Given the description of an element on the screen output the (x, y) to click on. 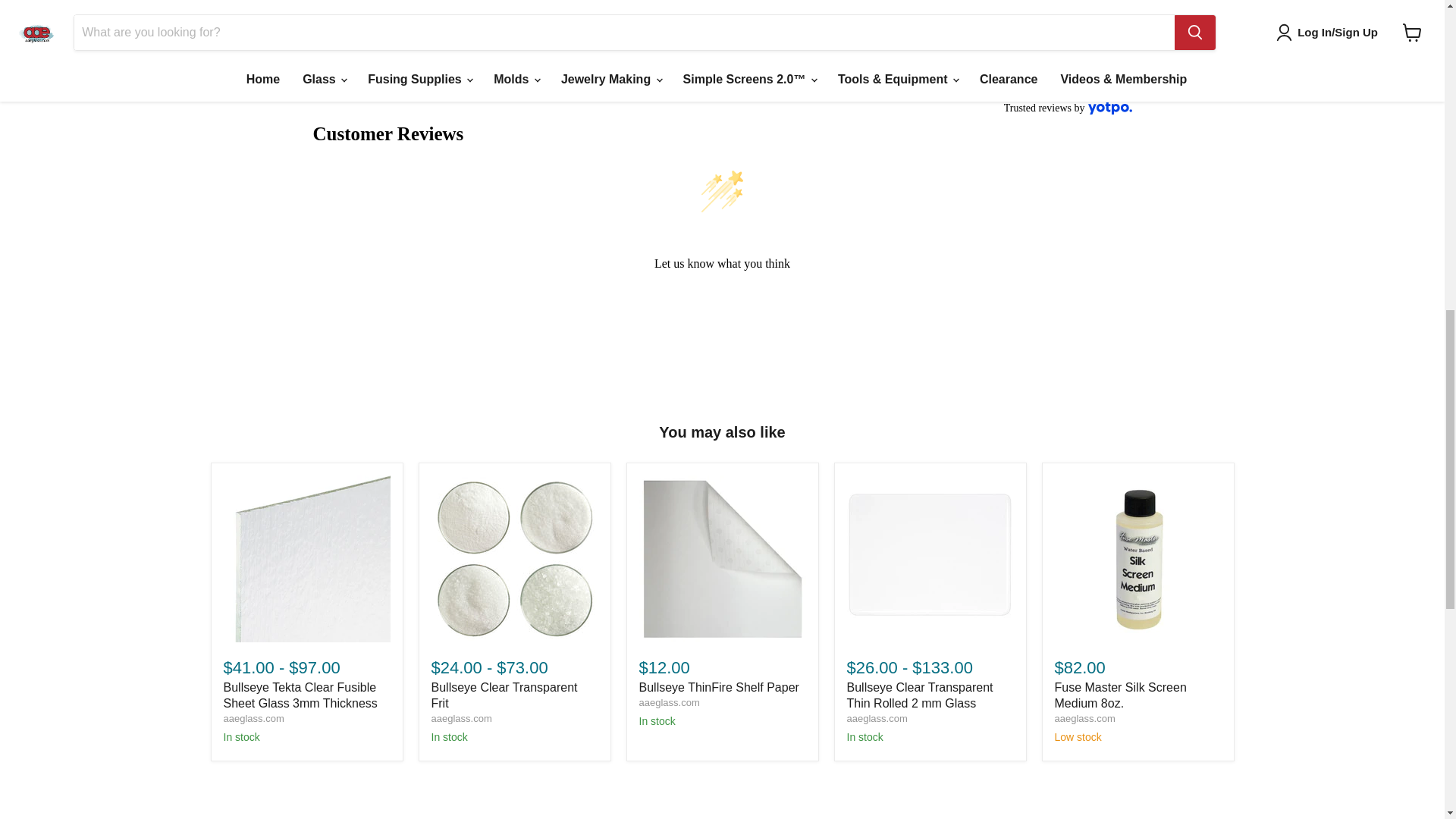
aaeglass.com (876, 717)
aaeglass.com (252, 717)
aaeglass.com (1084, 717)
aaeglass.com (668, 702)
aaeglass.com (461, 717)
